Given the description of an element on the screen output the (x, y) to click on. 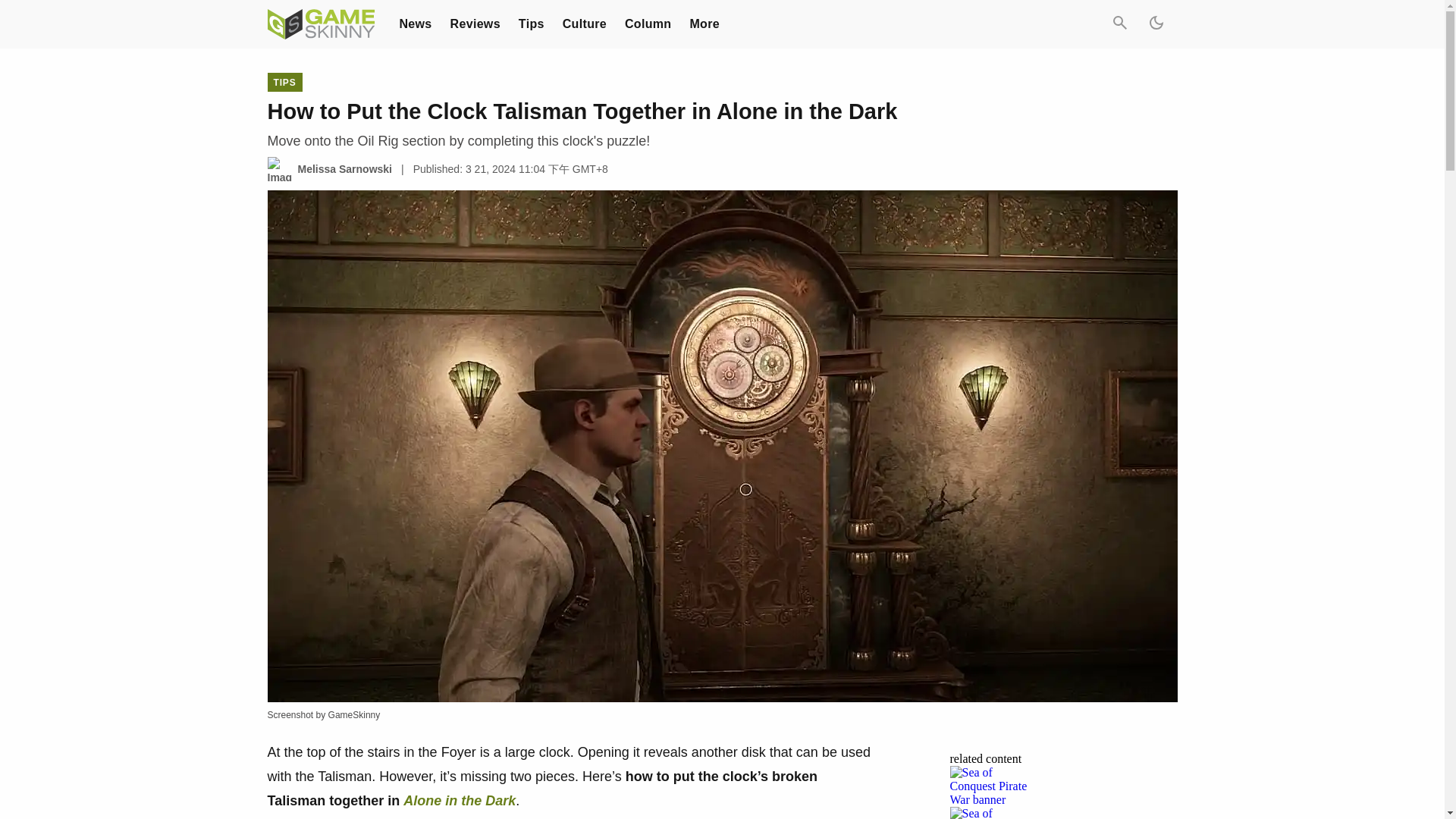
Reviews (474, 23)
Dark Mode (1155, 23)
Column (647, 23)
Search (1118, 23)
Tips (531, 23)
News (414, 23)
Culture (584, 23)
